Given the description of an element on the screen output the (x, y) to click on. 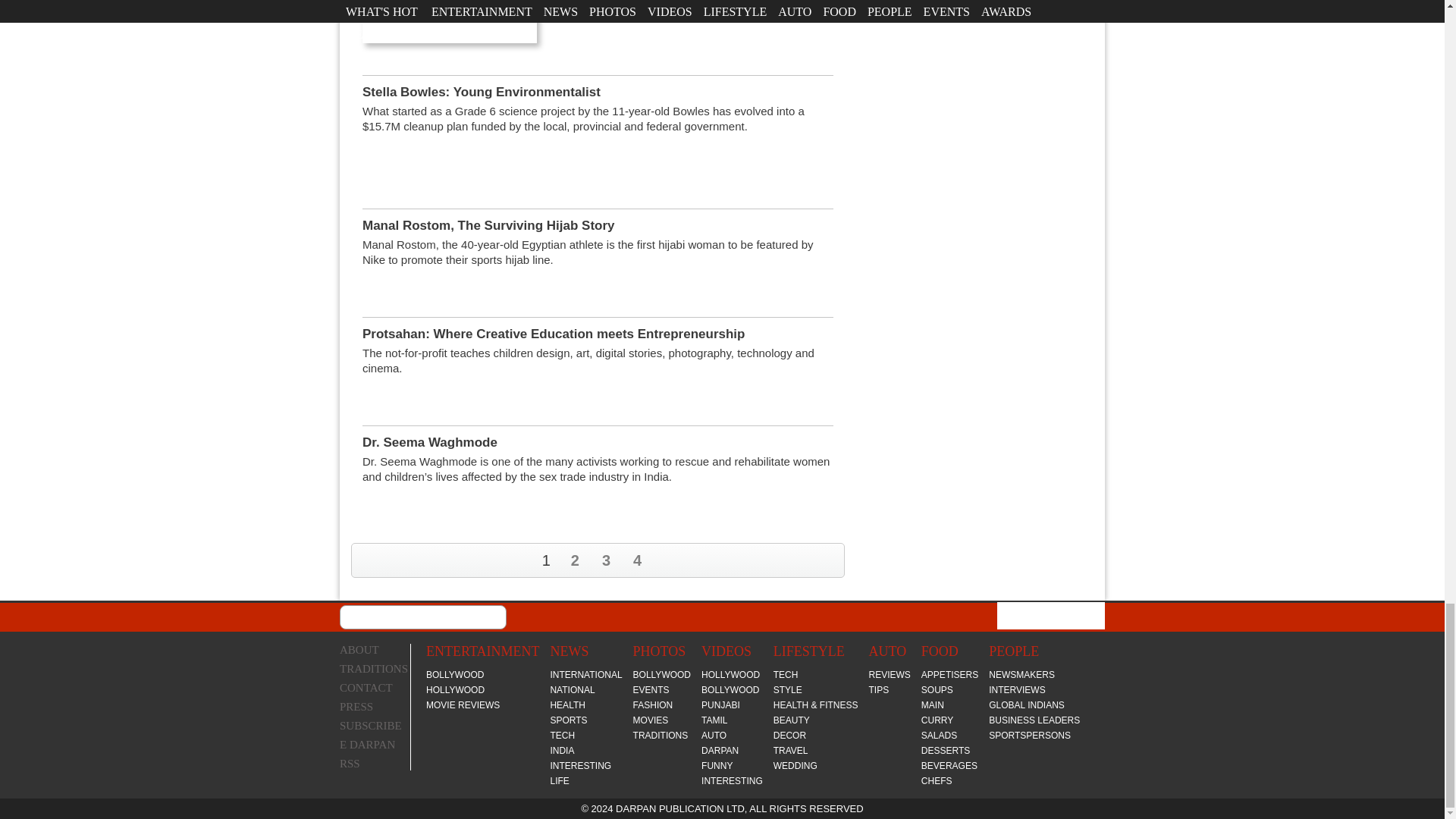
Prev (365, 559)
Next (830, 560)
